Given the description of an element on the screen output the (x, y) to click on. 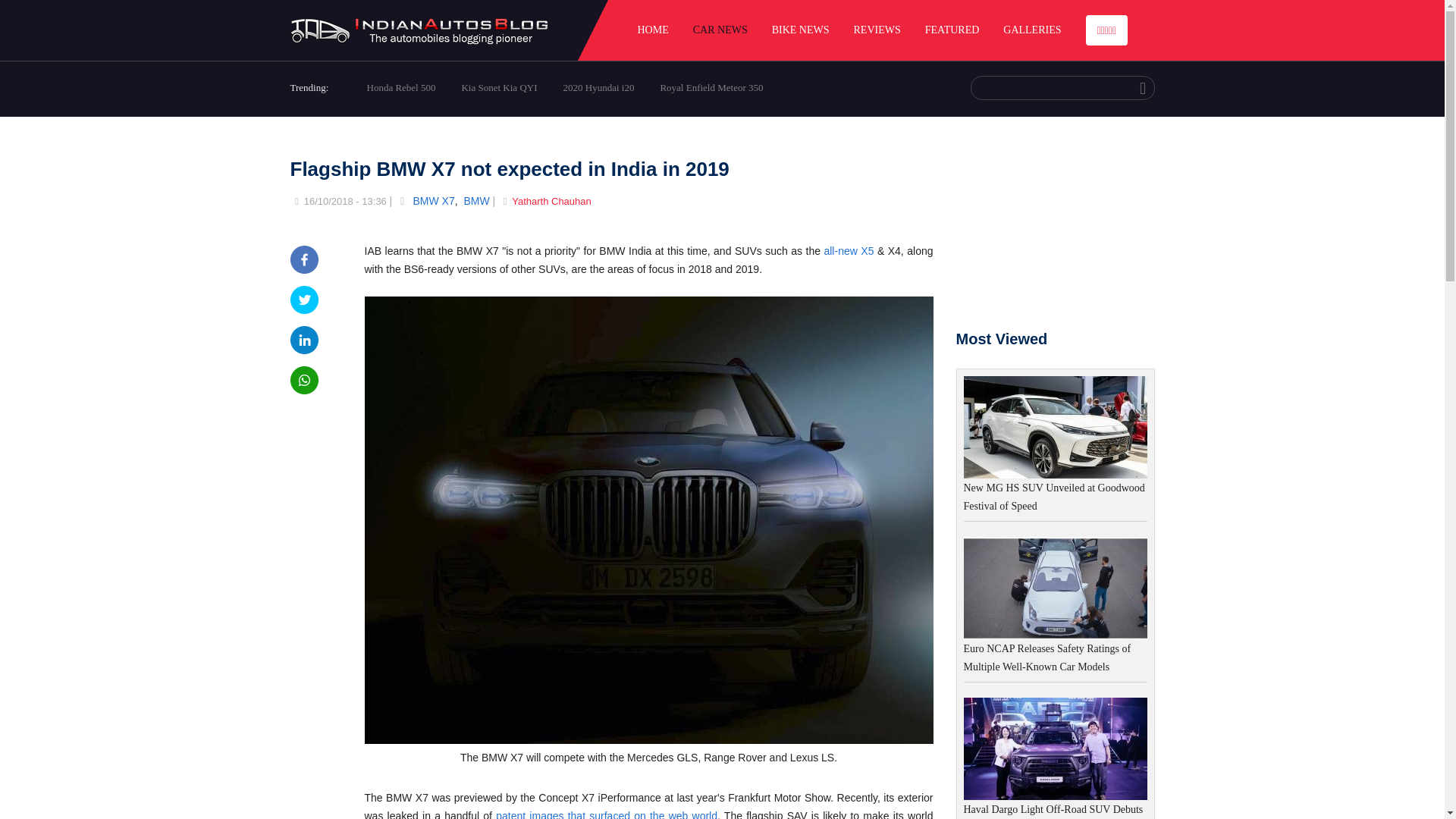
CAR NEWS (720, 30)
HOME (652, 30)
HOME (652, 30)
CAR NEWS (720, 30)
